Given the description of an element on the screen output the (x, y) to click on. 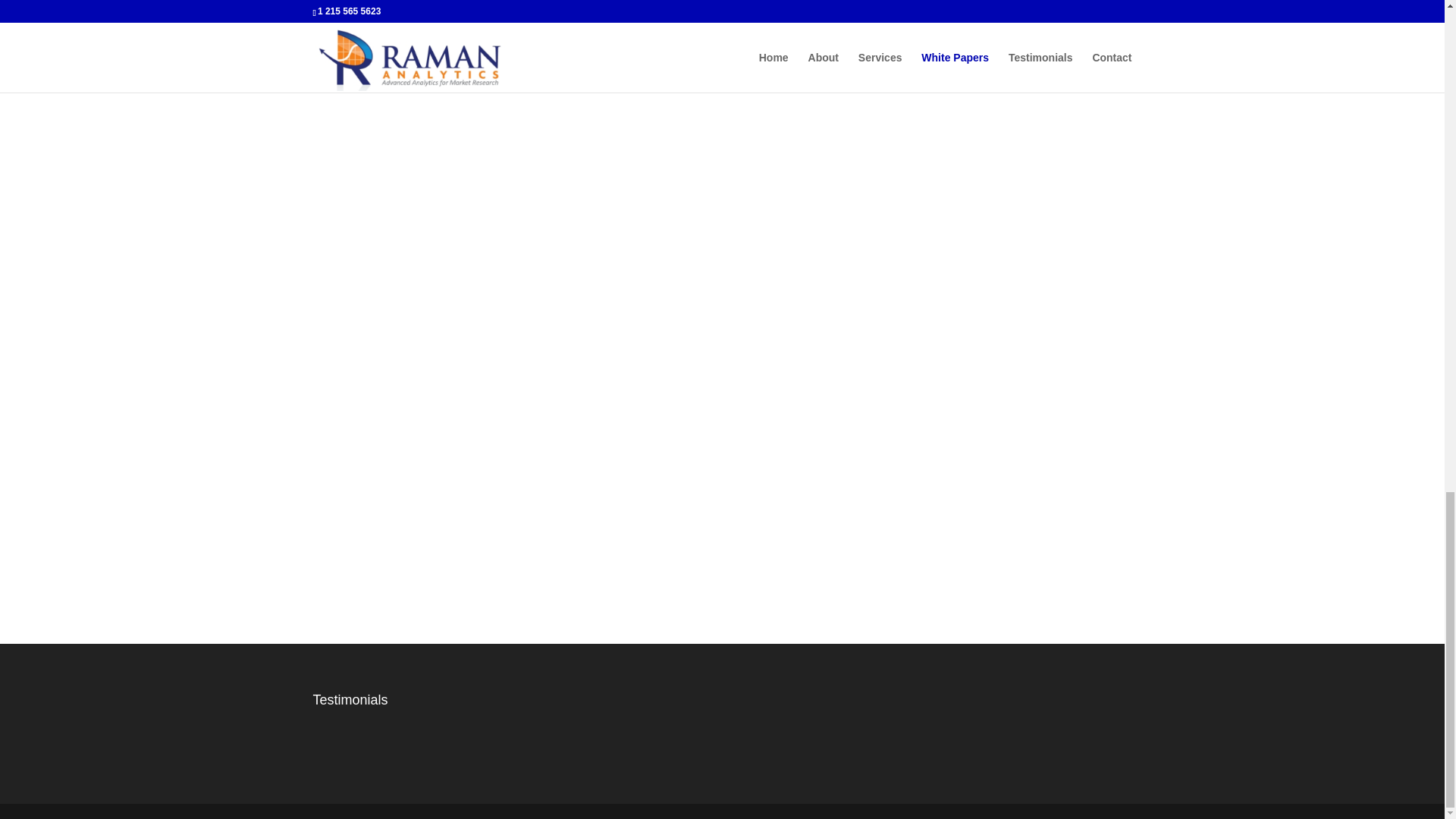
SSL Certificates (1004, 748)
SSL Certificate (1004, 731)
